Given the description of an element on the screen output the (x, y) to click on. 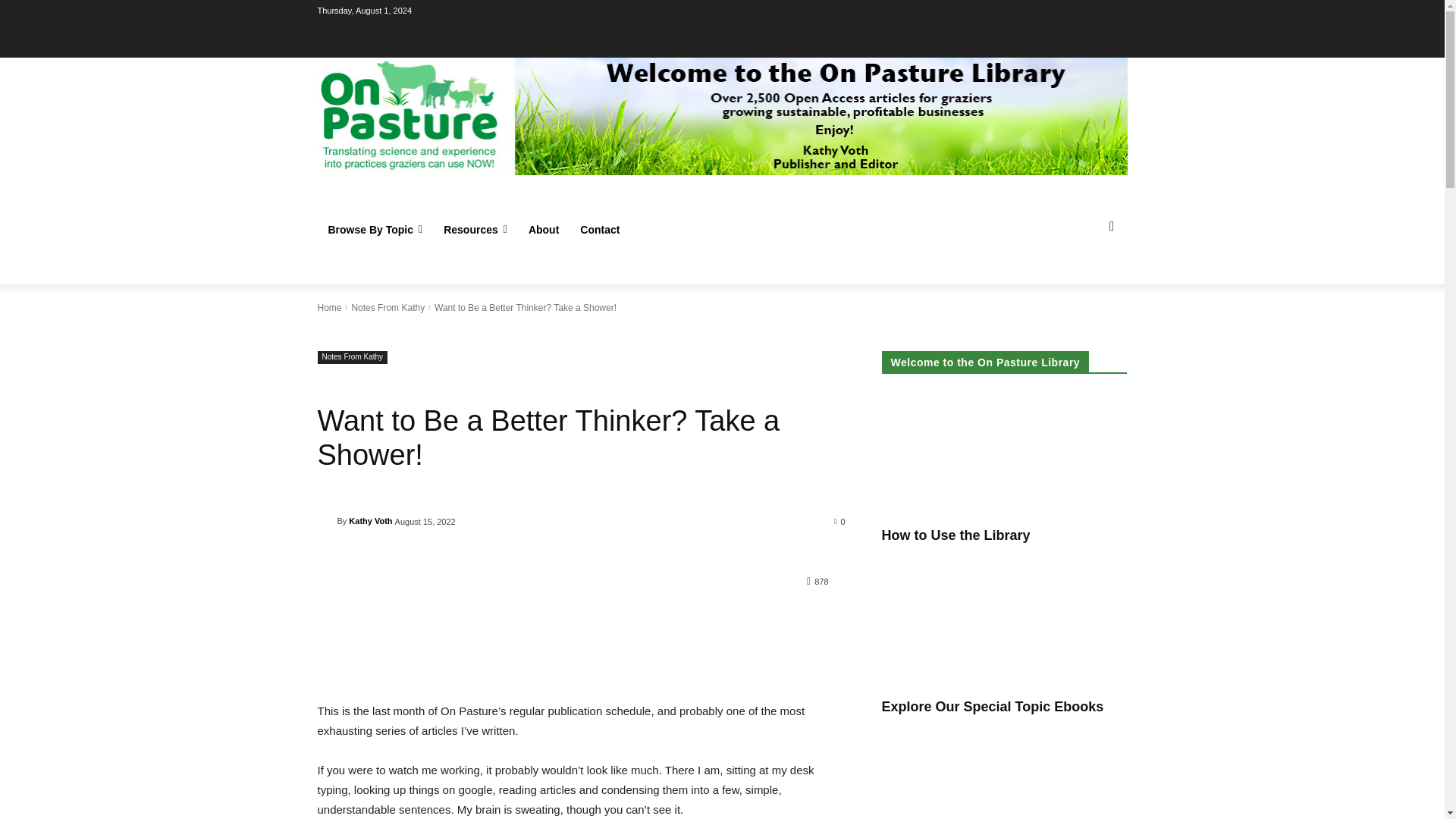
Kathy Voth (326, 520)
View all posts in Notes From Kathy (387, 307)
